Given the description of an element on the screen output the (x, y) to click on. 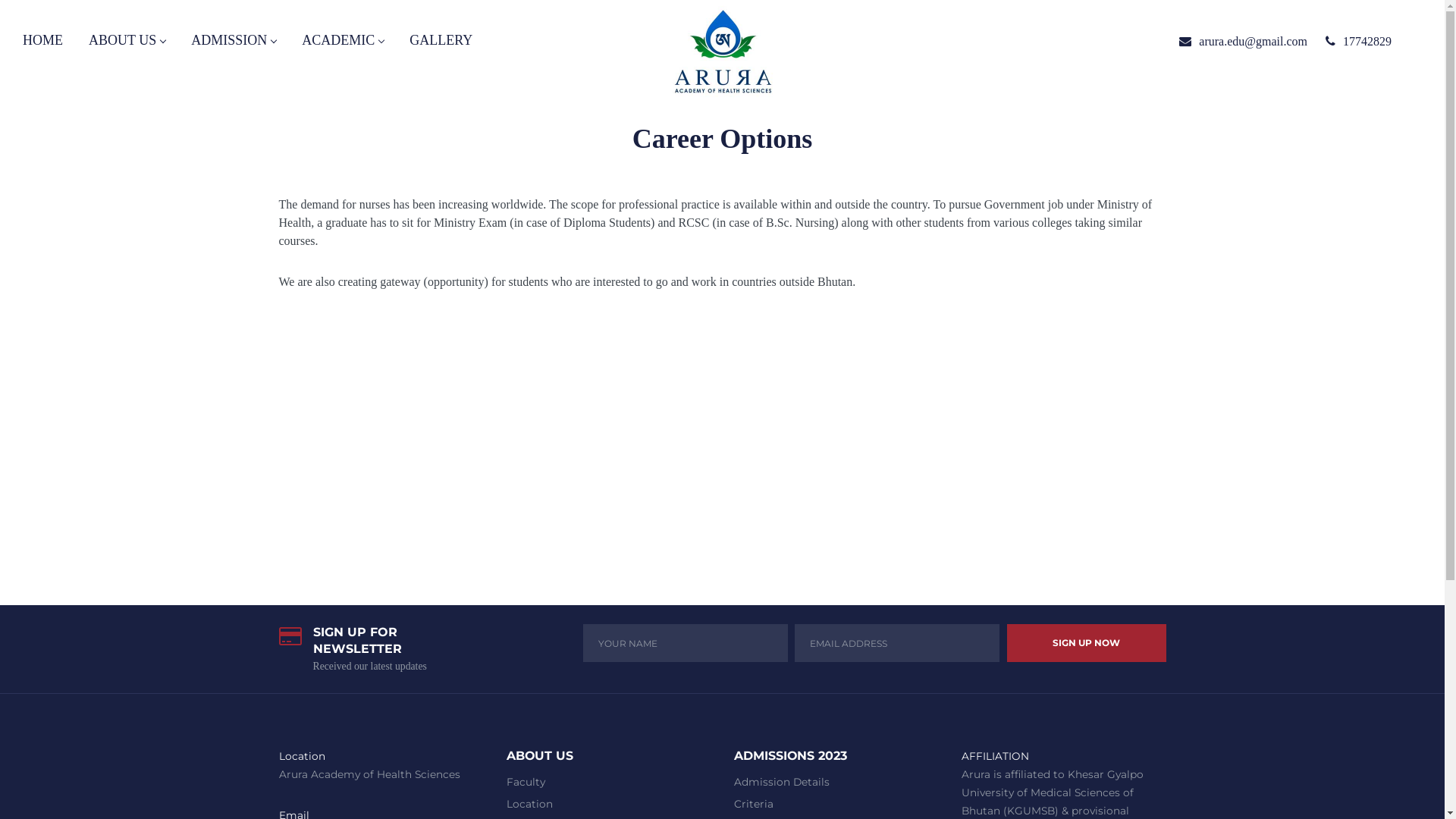
arura.edu@gmail.com Element type: text (1252, 40)
Faculty Element type: text (525, 781)
Admission Details Element type: text (781, 781)
ABOUT US Element type: text (126, 41)
HOME Element type: text (42, 41)
ACADEMIC Element type: text (342, 41)
GALLERY Element type: text (440, 41)
SIGN UP NOW Element type: text (1086, 643)
Location Element type: text (529, 803)
17742829 Element type: text (1367, 40)
Criteria Element type: text (753, 803)
ADMISSION Element type: text (233, 41)
